Given the description of an element on the screen output the (x, y) to click on. 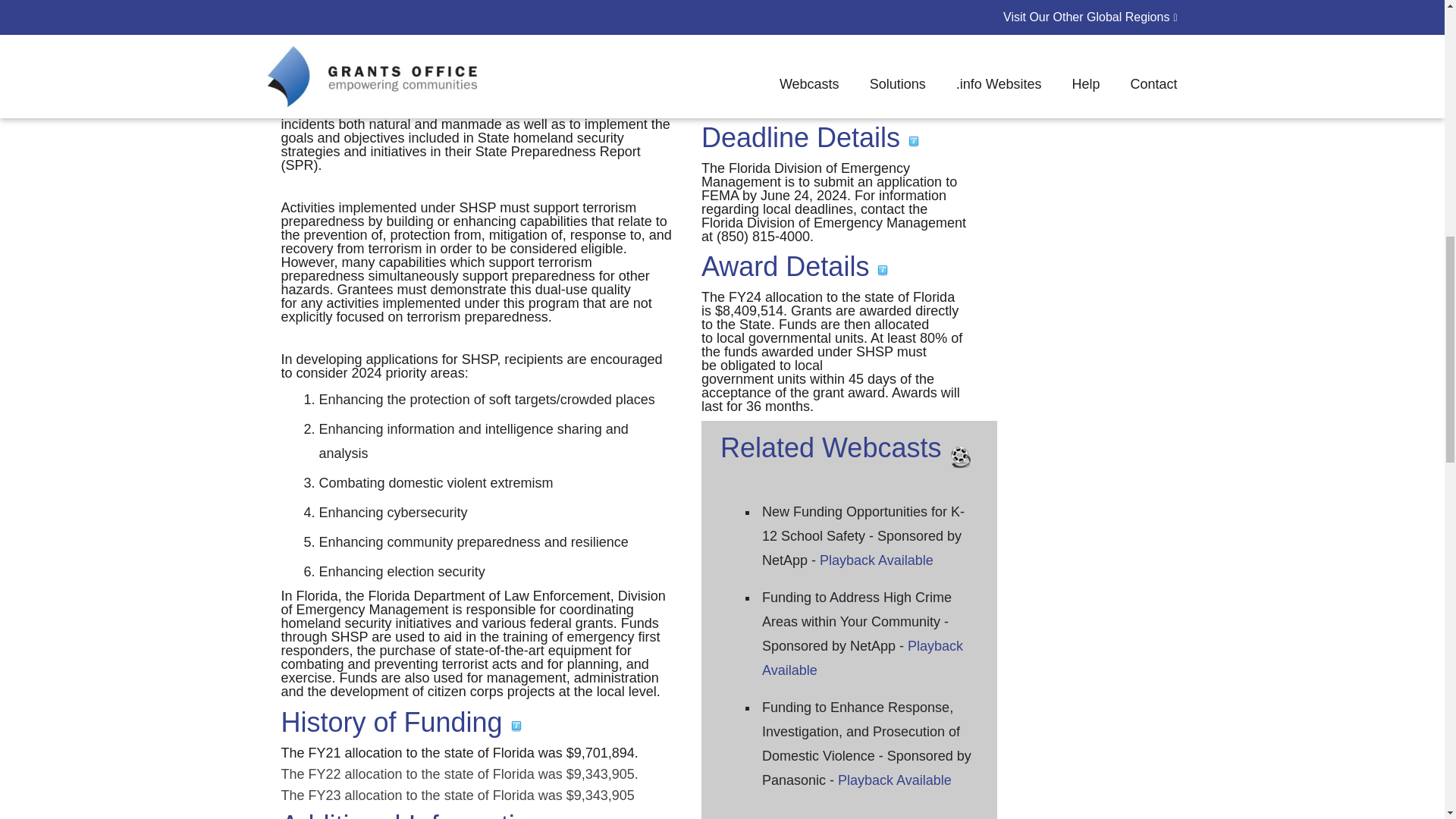
Playback Available (861, 658)
Playback Available (895, 780)
Playback Available (876, 560)
